Given the description of an element on the screen output the (x, y) to click on. 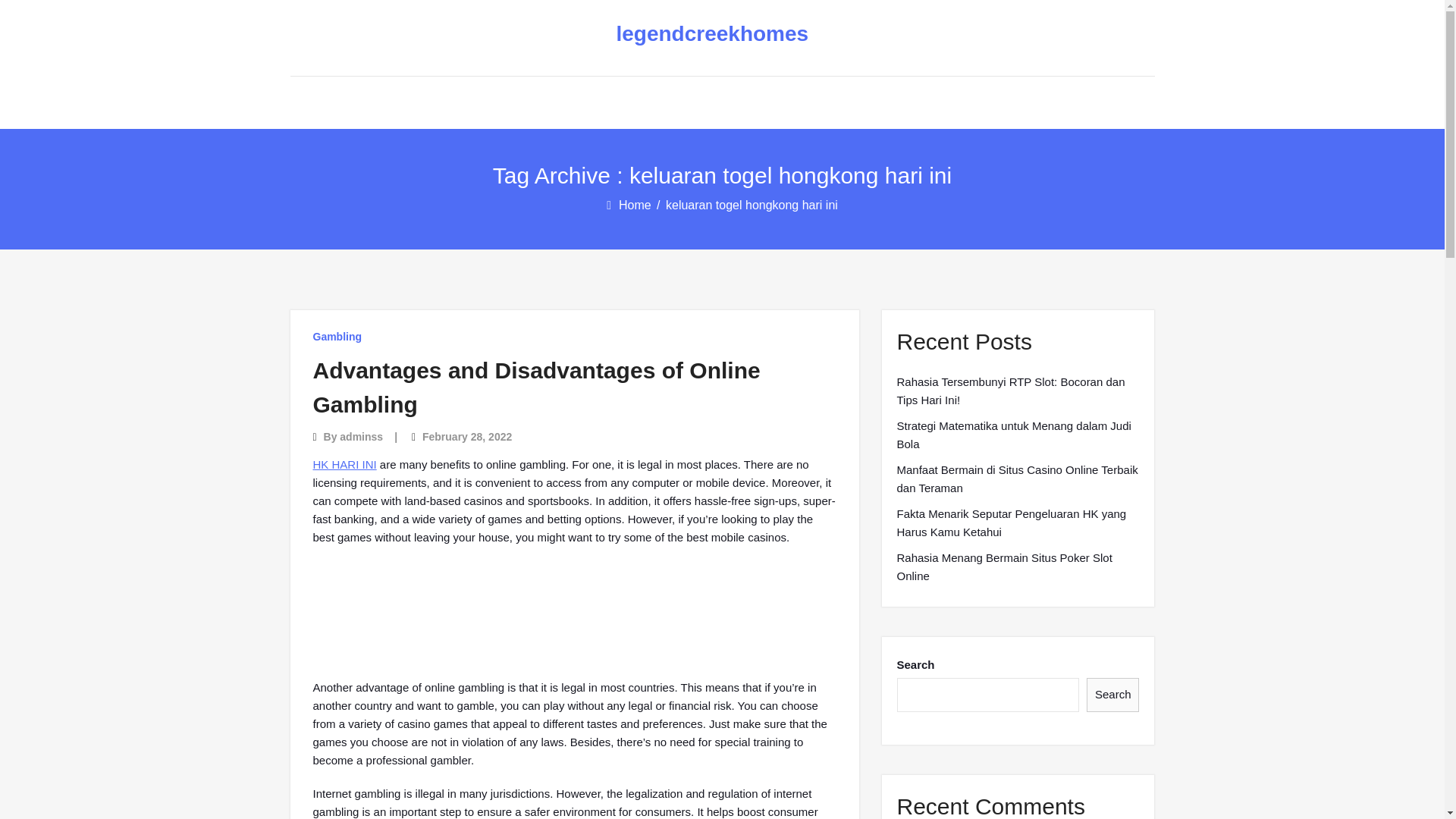
Home (635, 205)
legendcreekhomes (710, 34)
Gambling (337, 336)
Strategi Matematika untuk Menang dalam Judi Bola (1017, 434)
February 28, 2022 (467, 436)
Rahasia Menang Bermain Situs Poker Slot Online (1017, 566)
HK HARI INI (344, 463)
Advantages and Disadvantages of Online Gambling (536, 386)
Fakta Menarik Seputar Pengeluaran HK yang Harus Kamu Ketahui (1017, 523)
Manfaat Bermain di Situs Casino Online Terbaik dan Teraman (1017, 479)
adminss (360, 436)
Search (1113, 694)
Rahasia Tersembunyi RTP Slot: Bocoran dan Tips Hari Ini! (1017, 391)
